Given the description of an element on the screen output the (x, y) to click on. 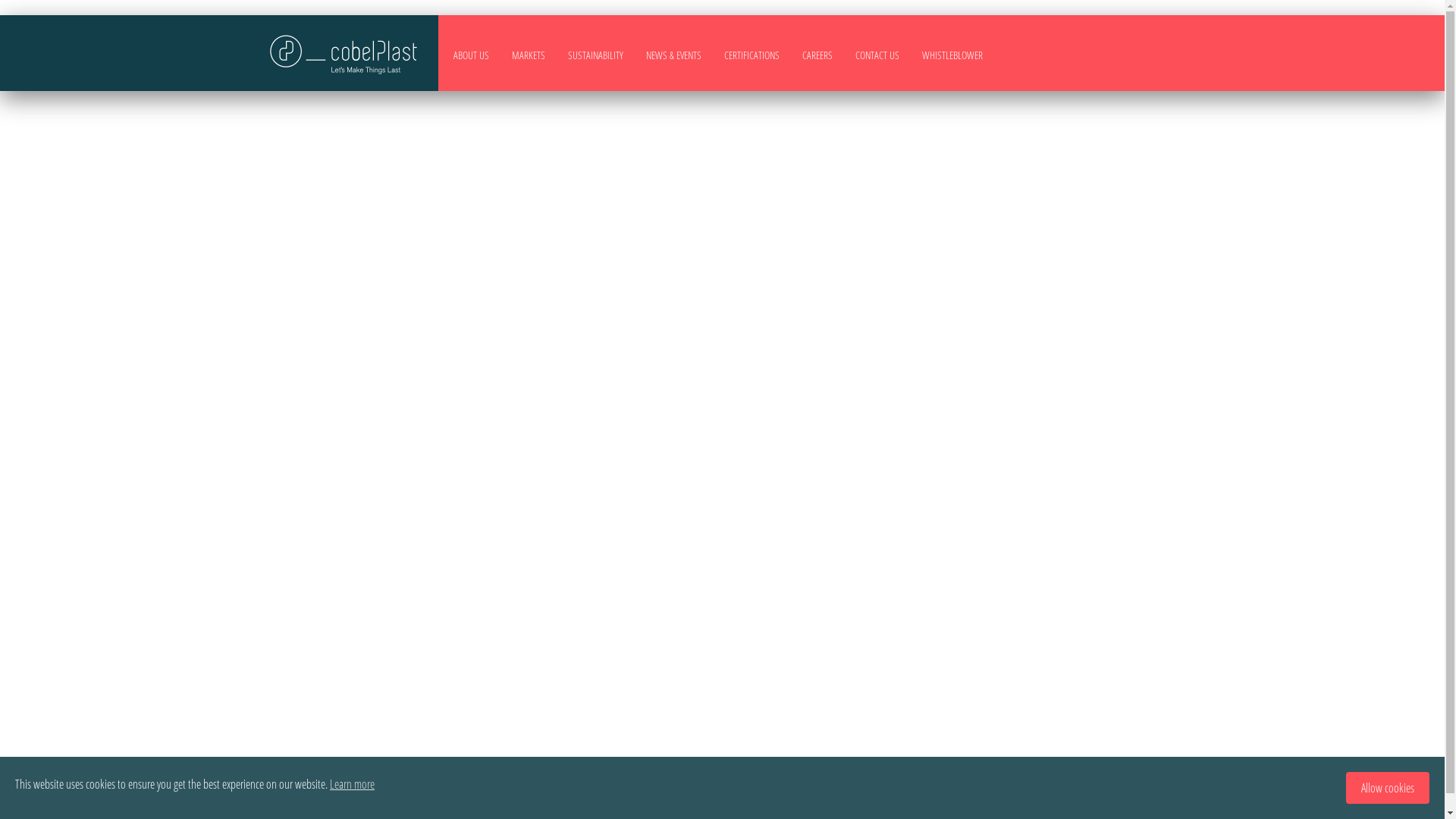
MARKETS Element type: text (527, 54)
ABOUT US Element type: text (471, 54)
Learn more Element type: text (351, 783)
CERTIFICATIONS Element type: text (750, 54)
CONTACT US Element type: text (877, 54)
WHISTLEBLOWER Element type: text (952, 54)
NEWS & EVENTS Element type: text (673, 54)
CAREERS Element type: text (817, 54)
SUSTAINABILITY Element type: text (594, 54)
Allow cookies Element type: text (1387, 787)
